Given the description of an element on the screen output the (x, y) to click on. 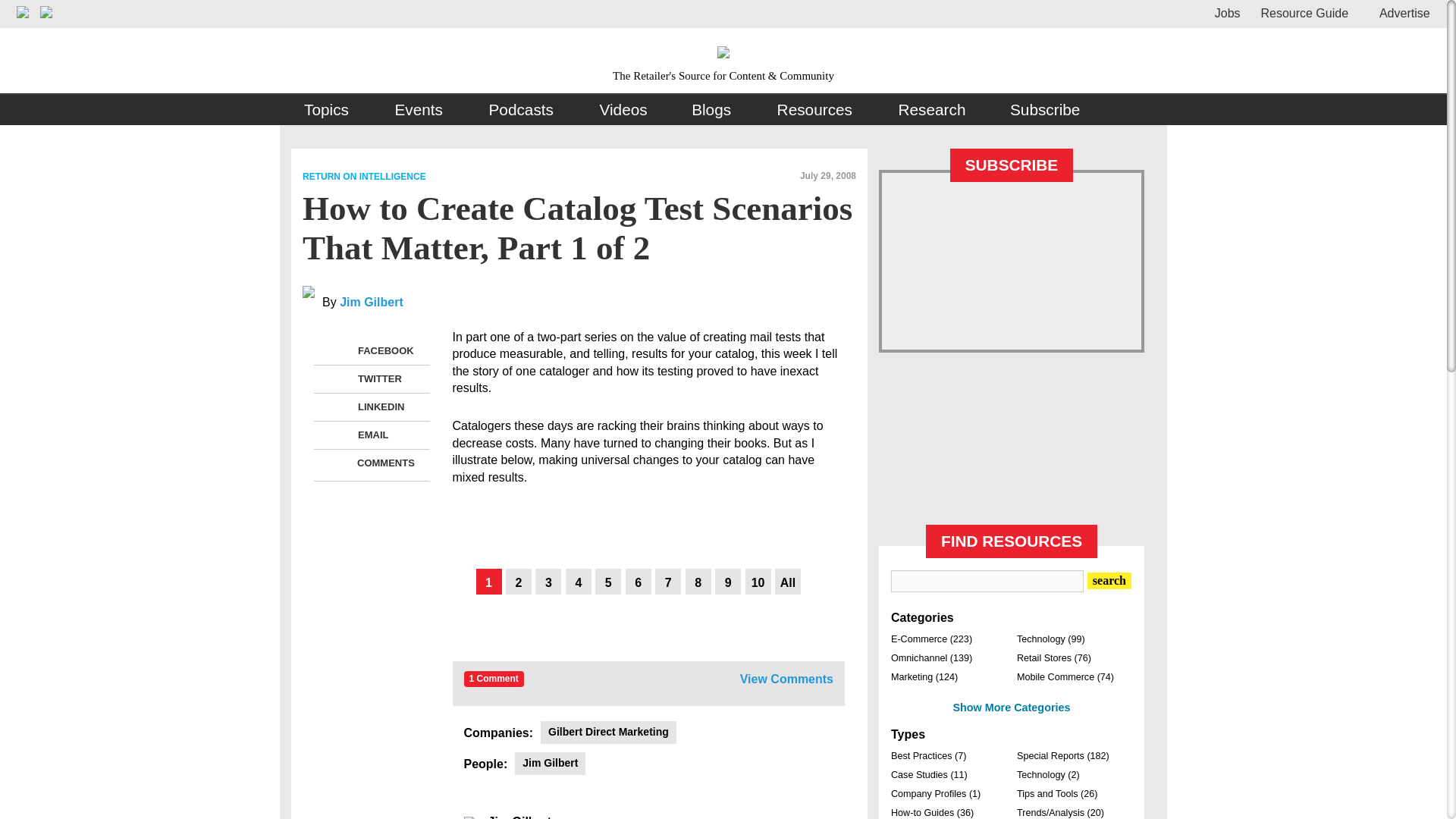
search (1109, 580)
Events (418, 110)
Jobs (1227, 12)
Twitter (339, 379)
Facebook (339, 351)
Resource Guide (1304, 12)
Videos (622, 110)
Blogs (711, 110)
Advertise (1398, 12)
LinkedIn (339, 406)
